Given the description of an element on the screen output the (x, y) to click on. 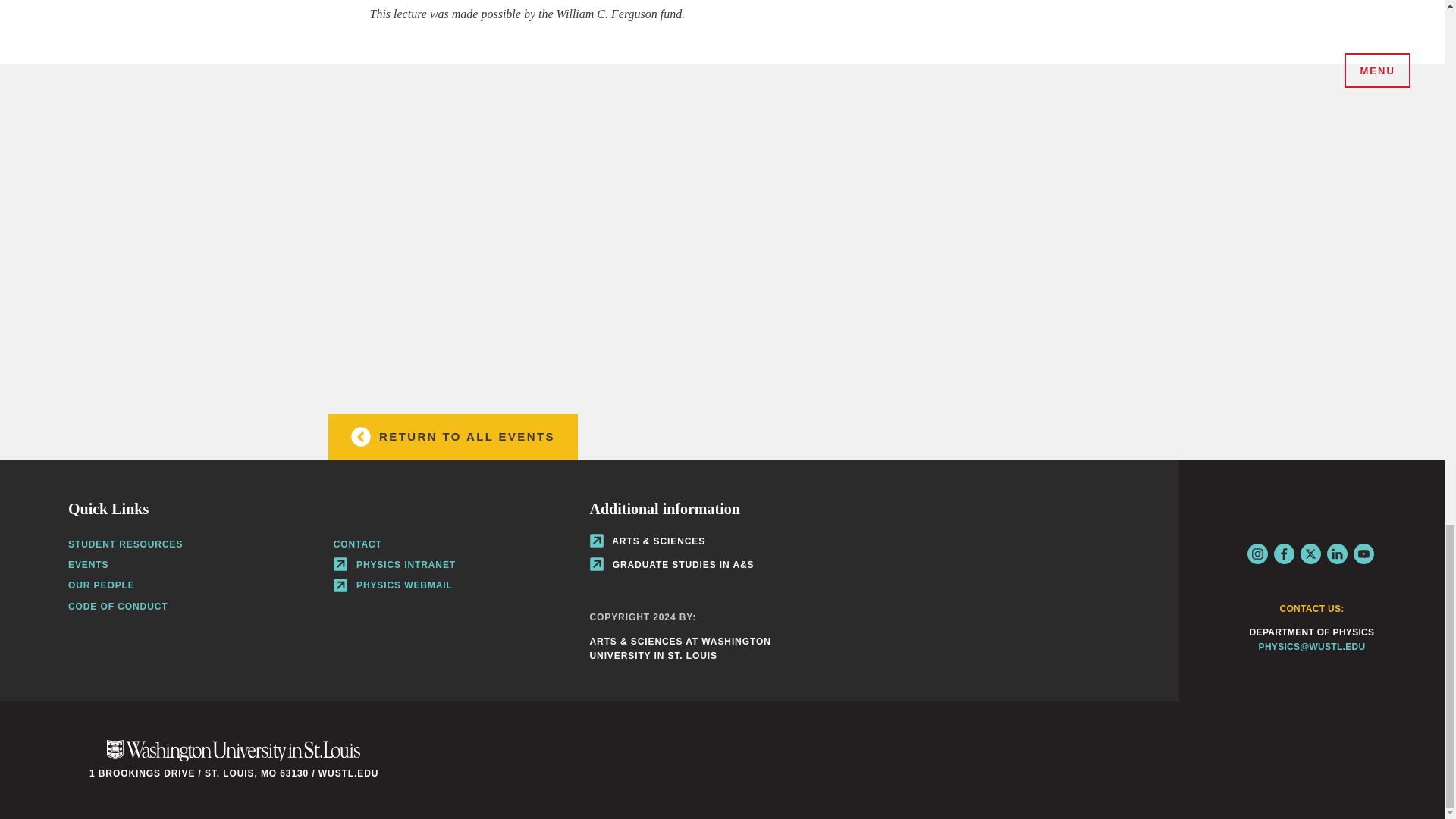
PHYSICS INTRANET (394, 564)
PHYSICS WEBMAIL (392, 584)
STUDENT RESOURCES (125, 543)
Linkedin (1337, 553)
Twitter (1310, 553)
Return to All Events (451, 437)
RETURN TO ALL EVENTS (451, 437)
Facebook (1284, 553)
OUR PEOPLE (101, 584)
CONTACT (357, 543)
Instagram (1256, 553)
CODE OF CONDUCT (118, 605)
EVENTS (87, 564)
